Given the description of an element on the screen output the (x, y) to click on. 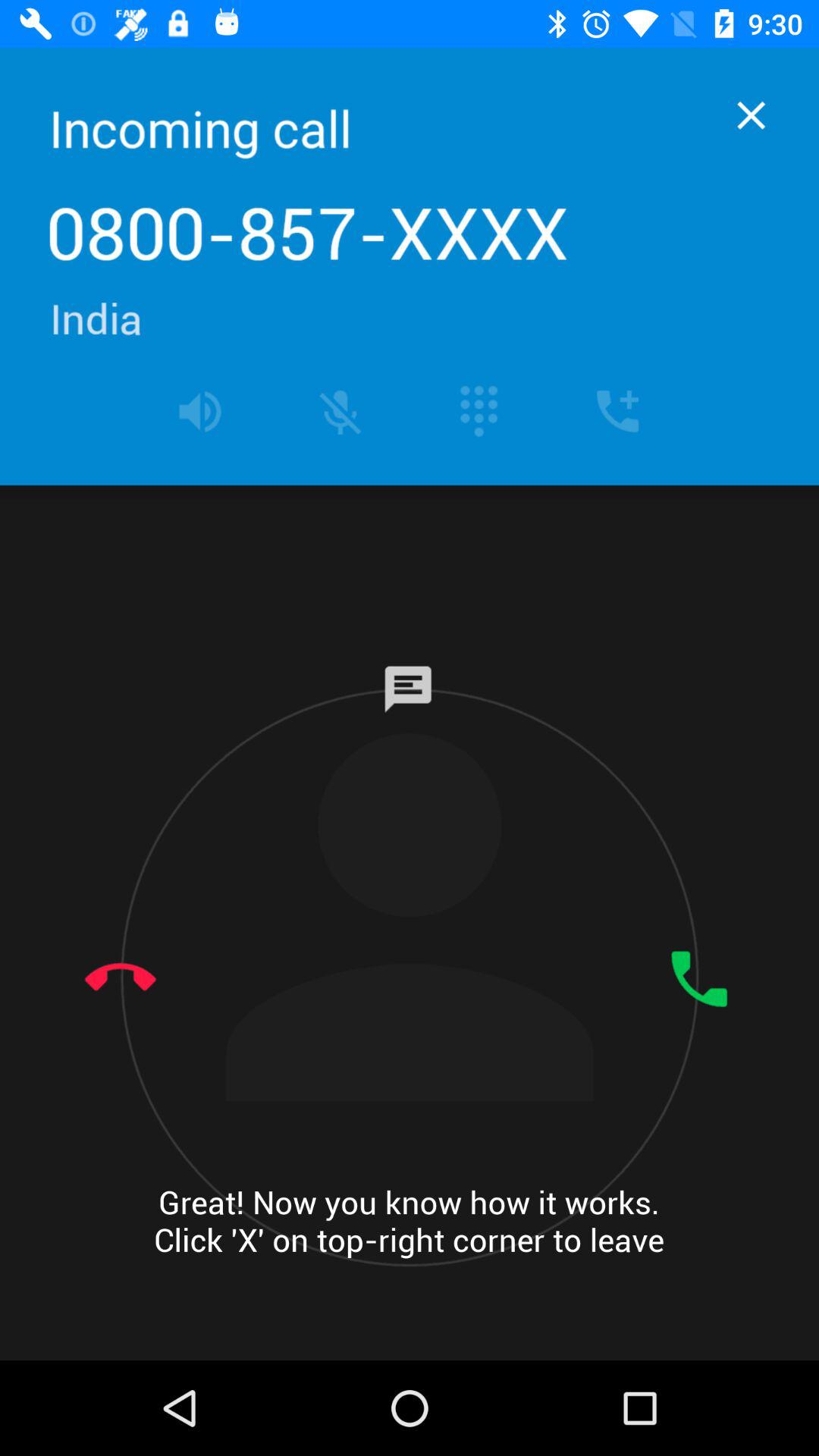
go back (751, 115)
